Given the description of an element on the screen output the (x, y) to click on. 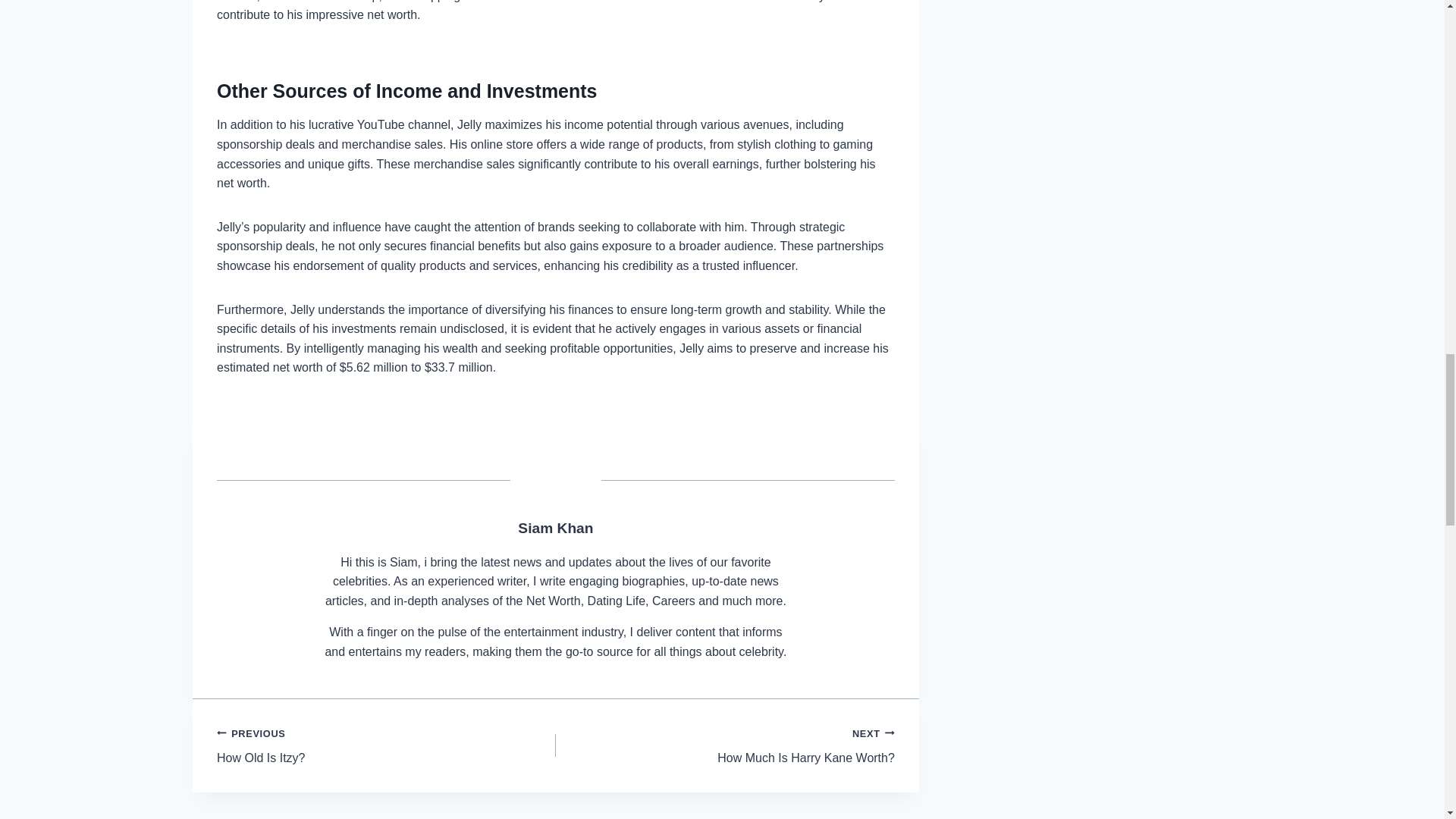
Posts by Siam Khan (555, 528)
Siam Khan (725, 745)
